Given the description of an element on the screen output the (x, y) to click on. 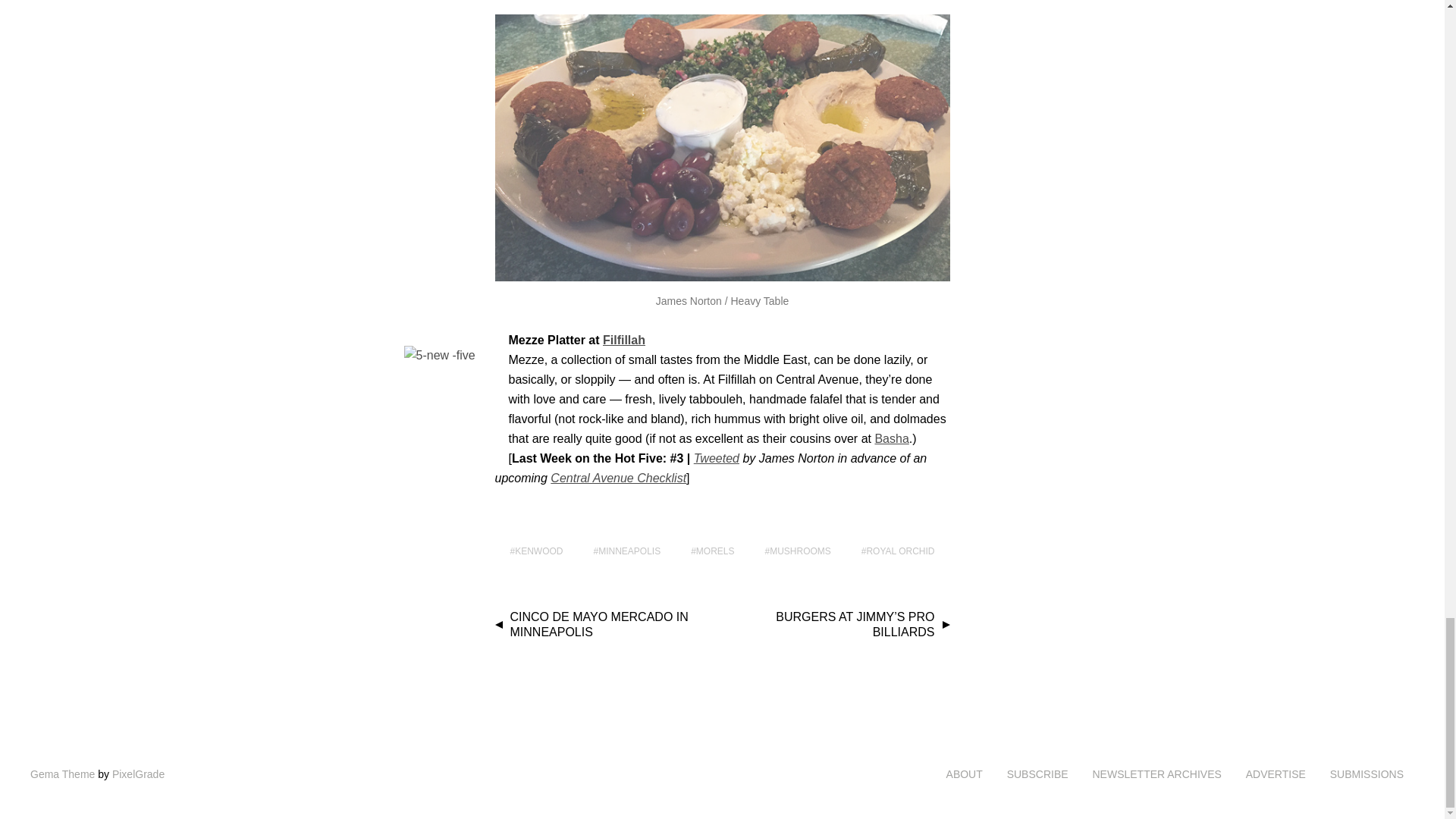
GEMA - A Journal-Inspired WordPress Theme (62, 774)
The PixelGrade Website (138, 774)
